Given the description of an element on the screen output the (x, y) to click on. 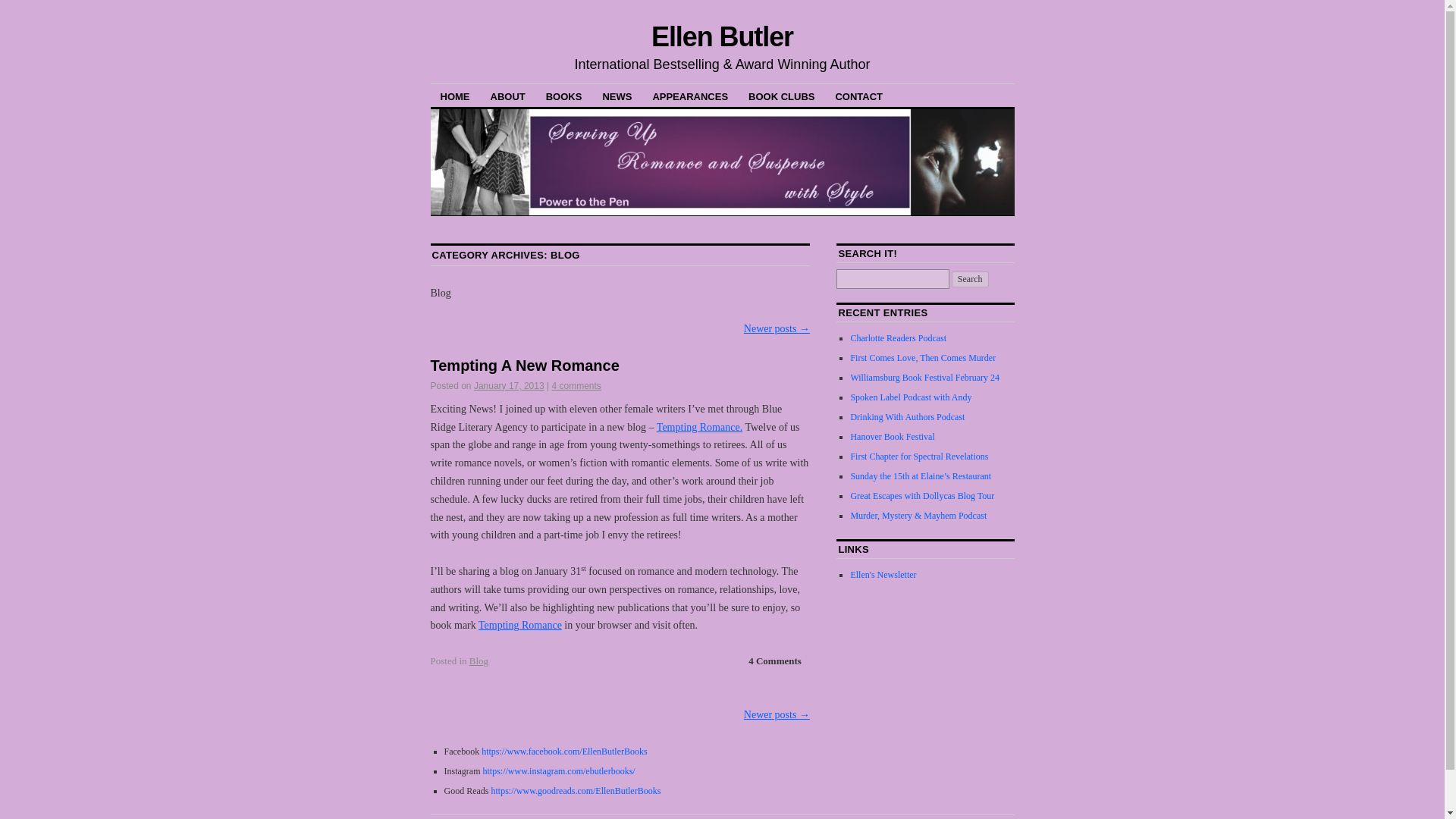
BOOK CLUBS (781, 96)
4 comments (575, 385)
4 Comments (775, 660)
Drinking With Authors Podcast (906, 416)
Ellen Butler (721, 36)
APPEARANCES (690, 96)
Tempting A New Romance (525, 365)
Williamsburg Book Festival February 24 (924, 377)
Search (970, 279)
Tempting Romance (520, 624)
Search (970, 279)
Blog (477, 660)
CONTACT (858, 96)
NEWS (617, 96)
Tempting Romance (699, 427)
